Given the description of an element on the screen output the (x, y) to click on. 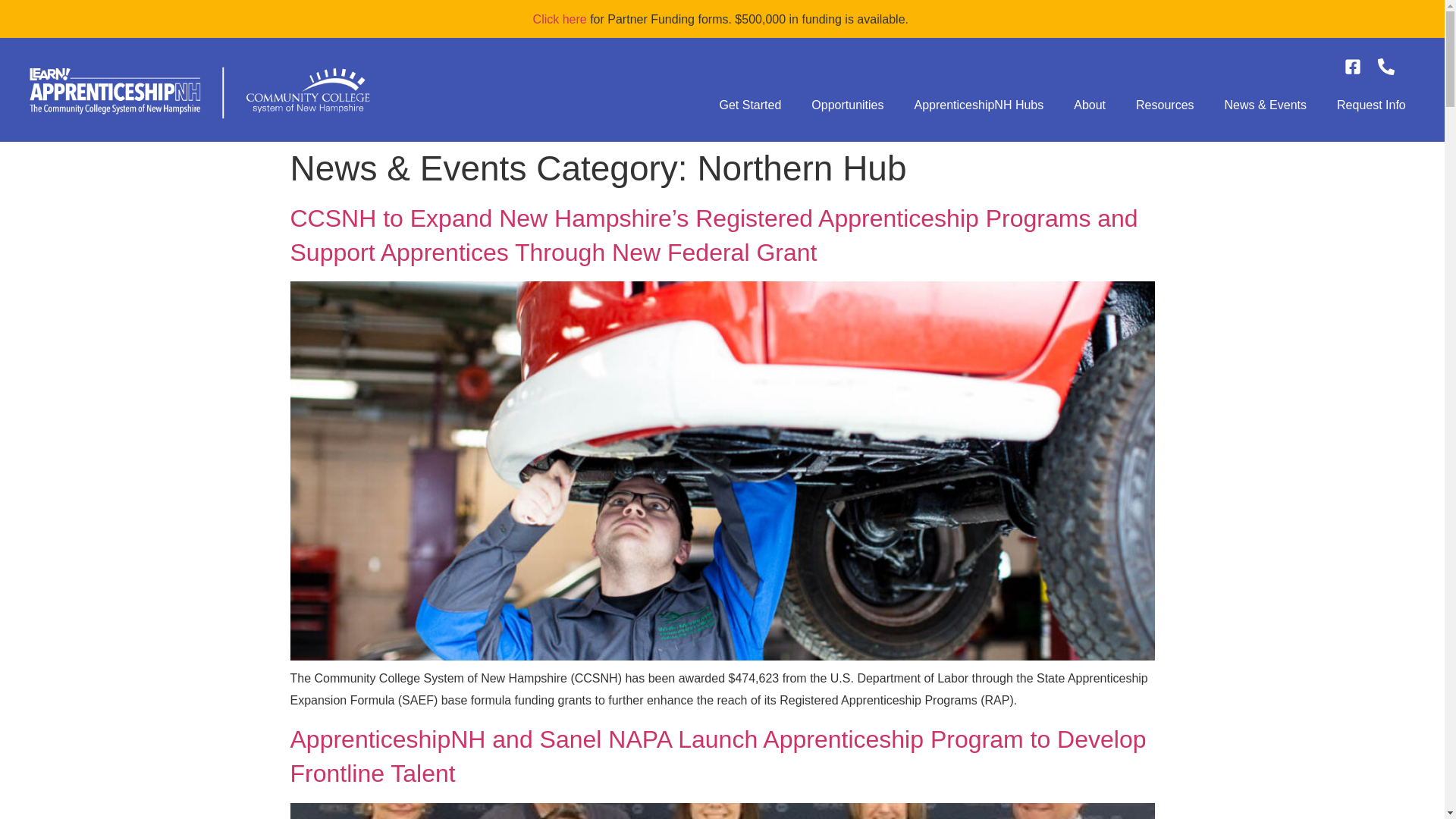
Request Info (1371, 105)
Get Started (749, 105)
ApprenticeshipNH Hubs (979, 105)
Opportunities (847, 105)
Click here (559, 19)
About (1089, 105)
Resources (1164, 105)
